Given the description of an element on the screen output the (x, y) to click on. 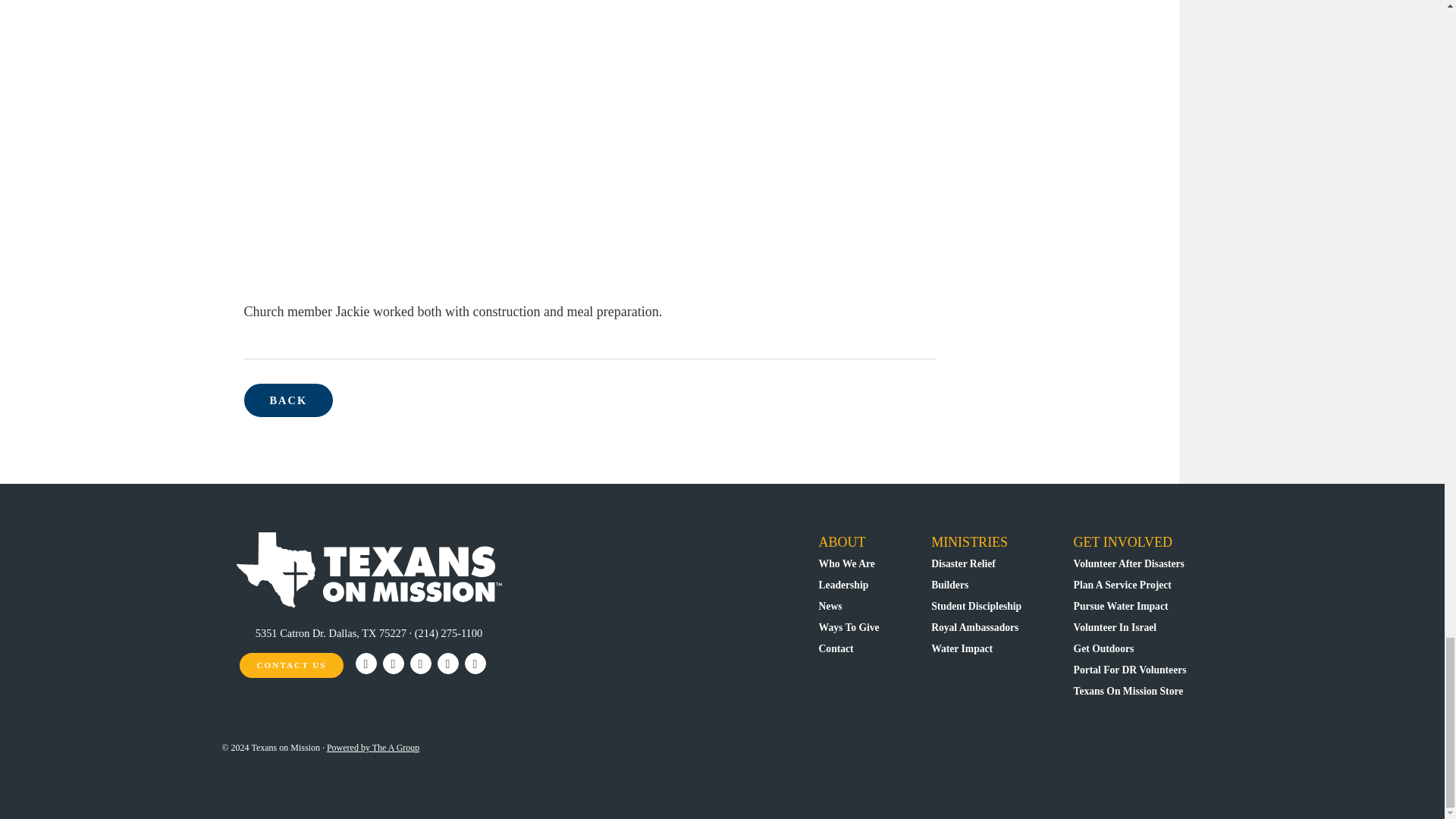
BACK (288, 400)
Contact (835, 648)
ABOUT (842, 541)
Disaster Relief (963, 563)
News (830, 605)
Leadership (843, 584)
MINISTRIES (969, 541)
Ways To Give (848, 627)
Who We Are (846, 563)
